Given the description of an element on the screen output the (x, y) to click on. 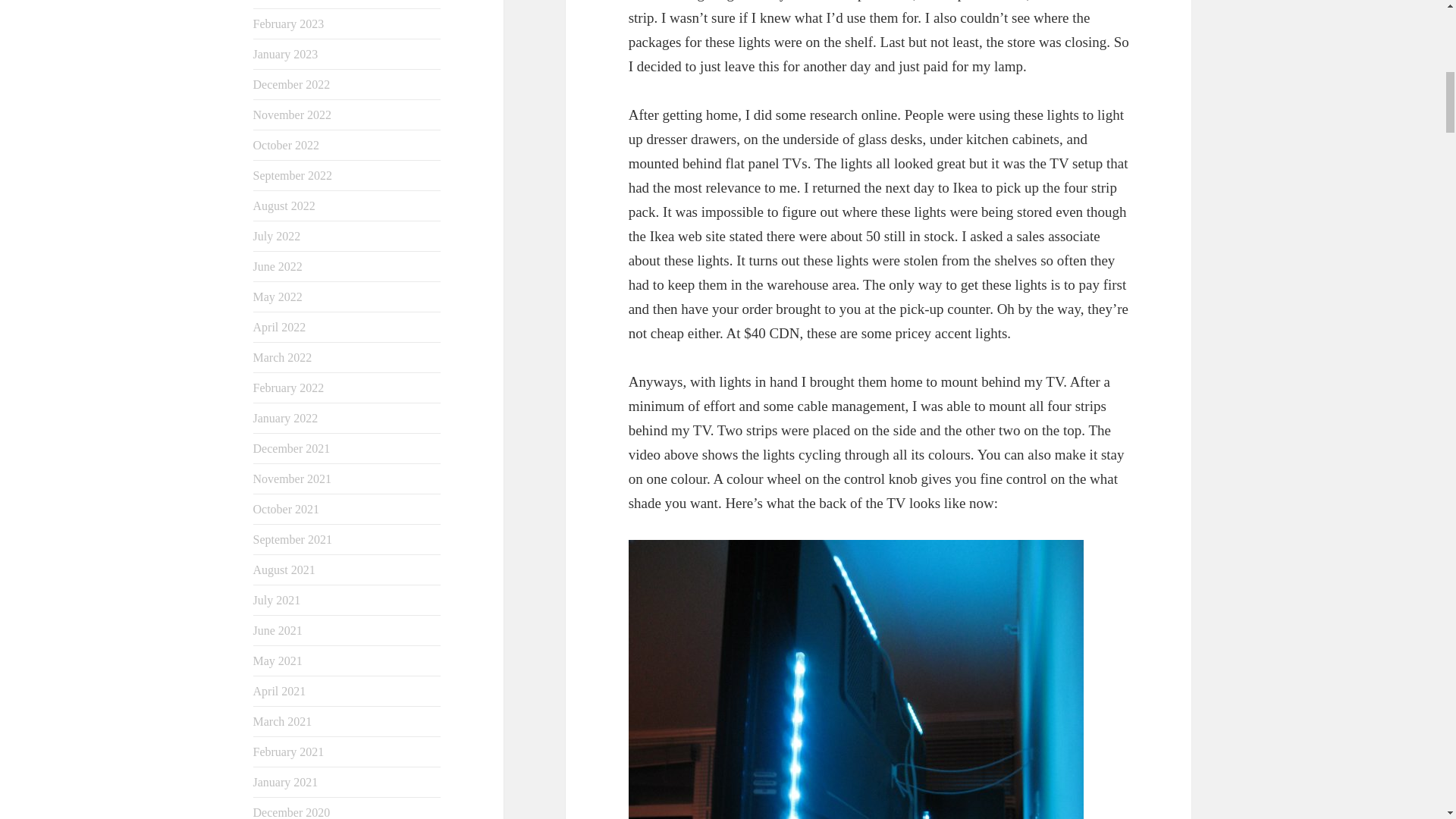
September 2022 (292, 174)
January 2023 (285, 53)
December 2021 (291, 448)
October 2021 (286, 508)
Your TV has entered the grid (855, 679)
March 2022 (283, 357)
October 2022 (286, 144)
November 2021 (292, 478)
August 2021 (284, 569)
August 2022 (284, 205)
February 2023 (288, 23)
May 2022 (277, 296)
April 2022 (279, 327)
December 2022 (291, 83)
September 2021 (292, 539)
